Given the description of an element on the screen output the (x, y) to click on. 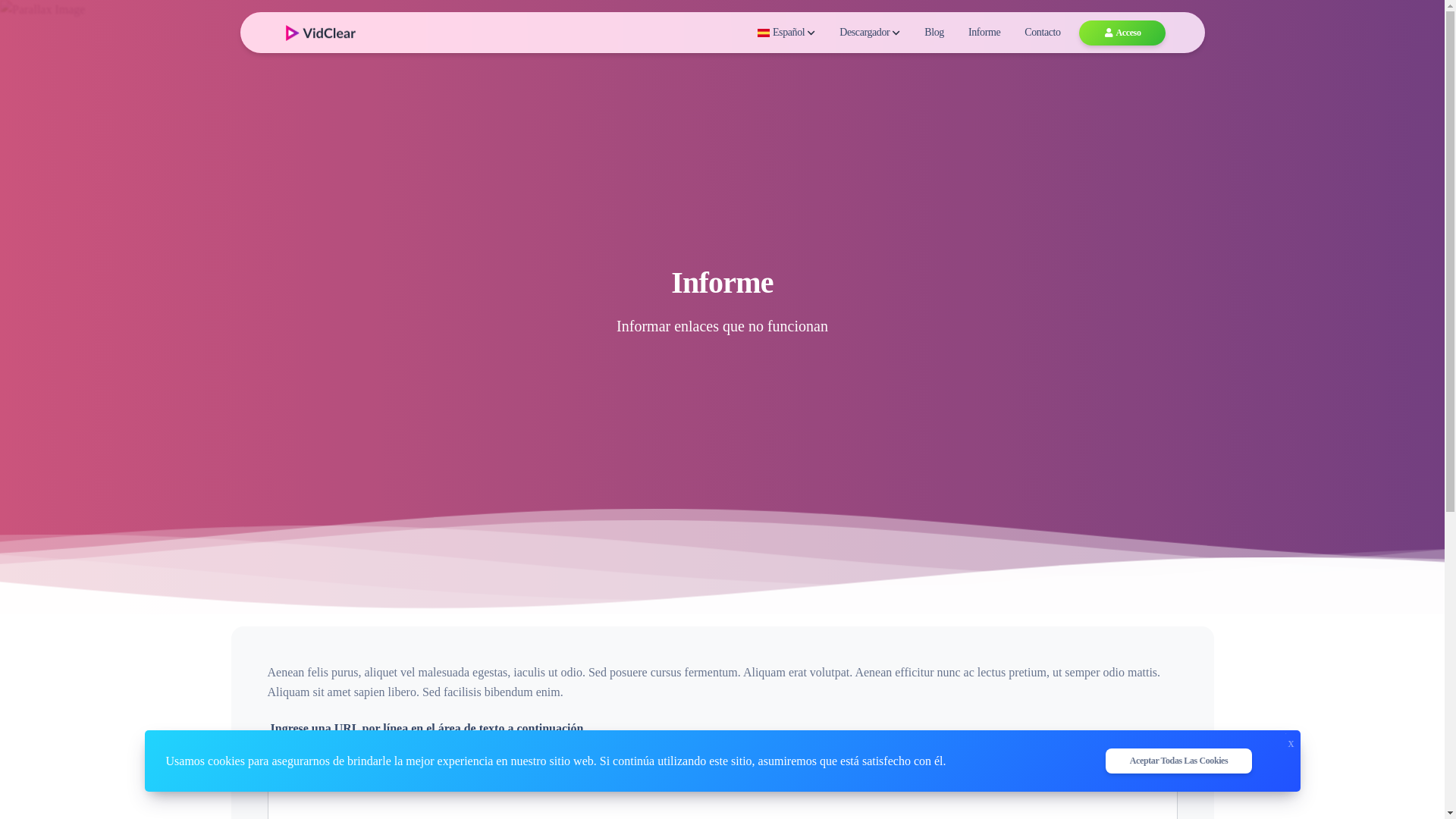
Aceptar Todas Las Cookies Element type: text (1178, 760)
Descargador Element type: text (869, 32)
Contacto Element type: text (1042, 32)
Blog Element type: text (934, 32)
Informe Element type: text (984, 32)
Acceso Element type: text (1122, 32)
x Element type: text (1290, 739)
